Given the description of an element on the screen output the (x, y) to click on. 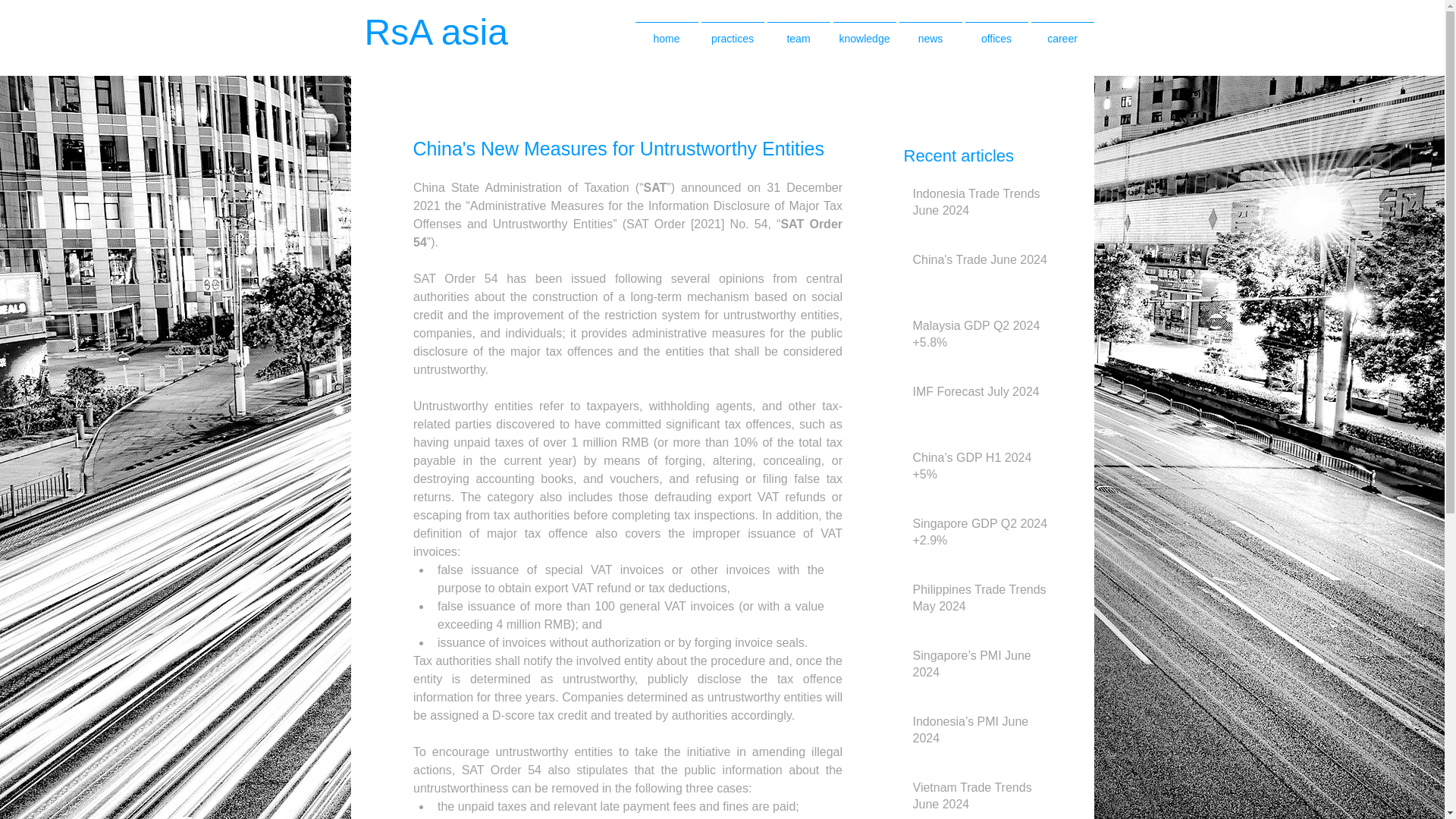
Philippines Trade Trends May 2024 (981, 601)
offices (995, 31)
China's Trade June 2024 (981, 262)
Vietnam Trade Trends June 2024 (981, 799)
news (930, 31)
RsA asia (452, 31)
knowledge (863, 31)
home (666, 31)
team (798, 31)
career (1062, 31)
practices (731, 31)
Indonesia Trade Trends June 2024 (981, 205)
IMF Forecast July 2024 (981, 395)
